Given the description of an element on the screen output the (x, y) to click on. 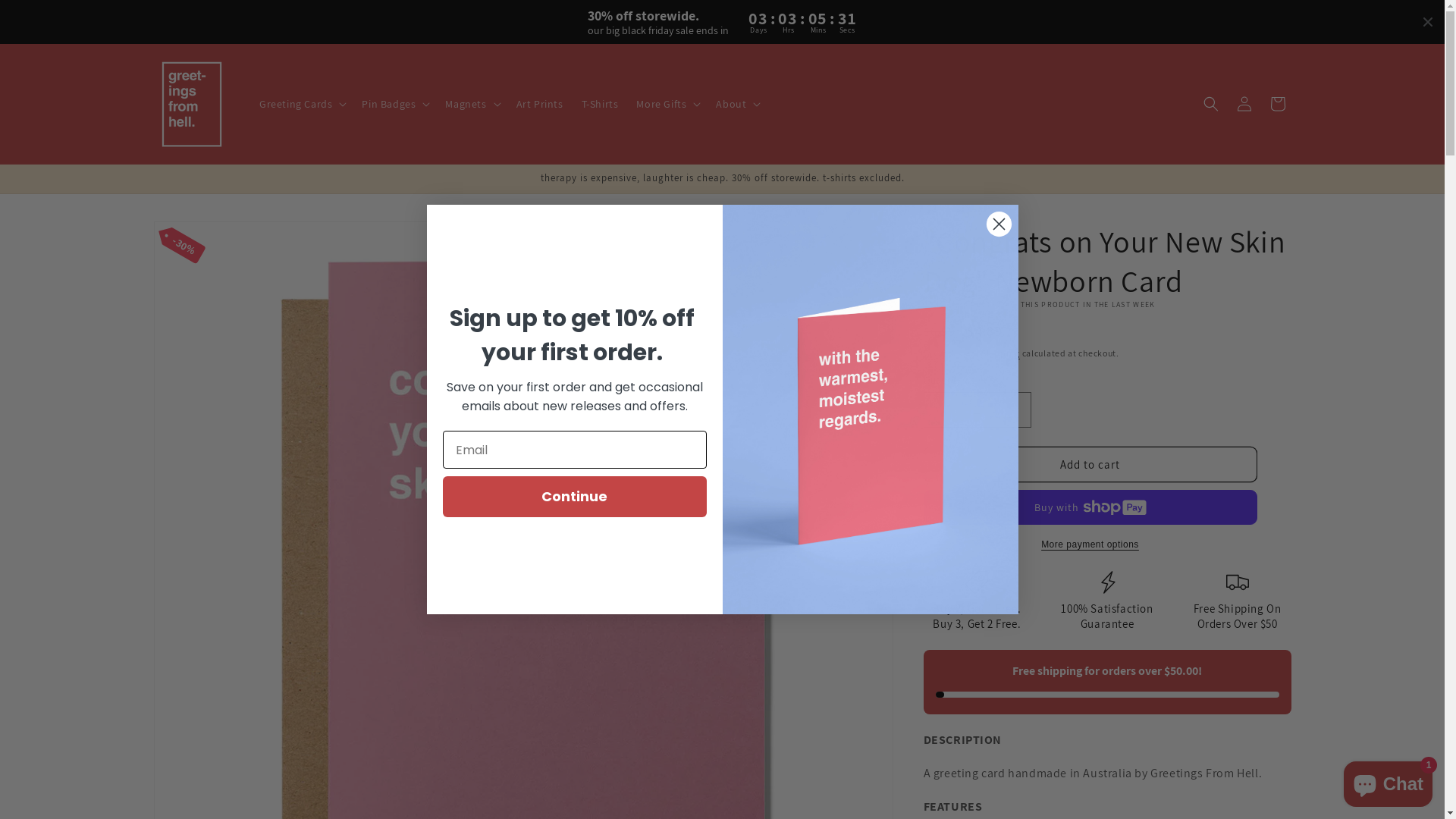
Skip to product information Element type: text (199, 238)
Shipping Element type: text (1000, 352)
Close dialog 1 Element type: text (998, 223)
Add to cart Element type: text (1090, 464)
Cart Element type: text (1276, 103)
Log in Element type: text (1243, 103)
Continue Element type: text (574, 496)
Shopify online store chat Element type: hover (1388, 780)
More payment options Element type: text (1090, 544)
T-Shirts Element type: text (599, 103)
Submit Element type: text (21, 7)
Art Prints Element type: text (539, 103)
